Given the description of an element on the screen output the (x, y) to click on. 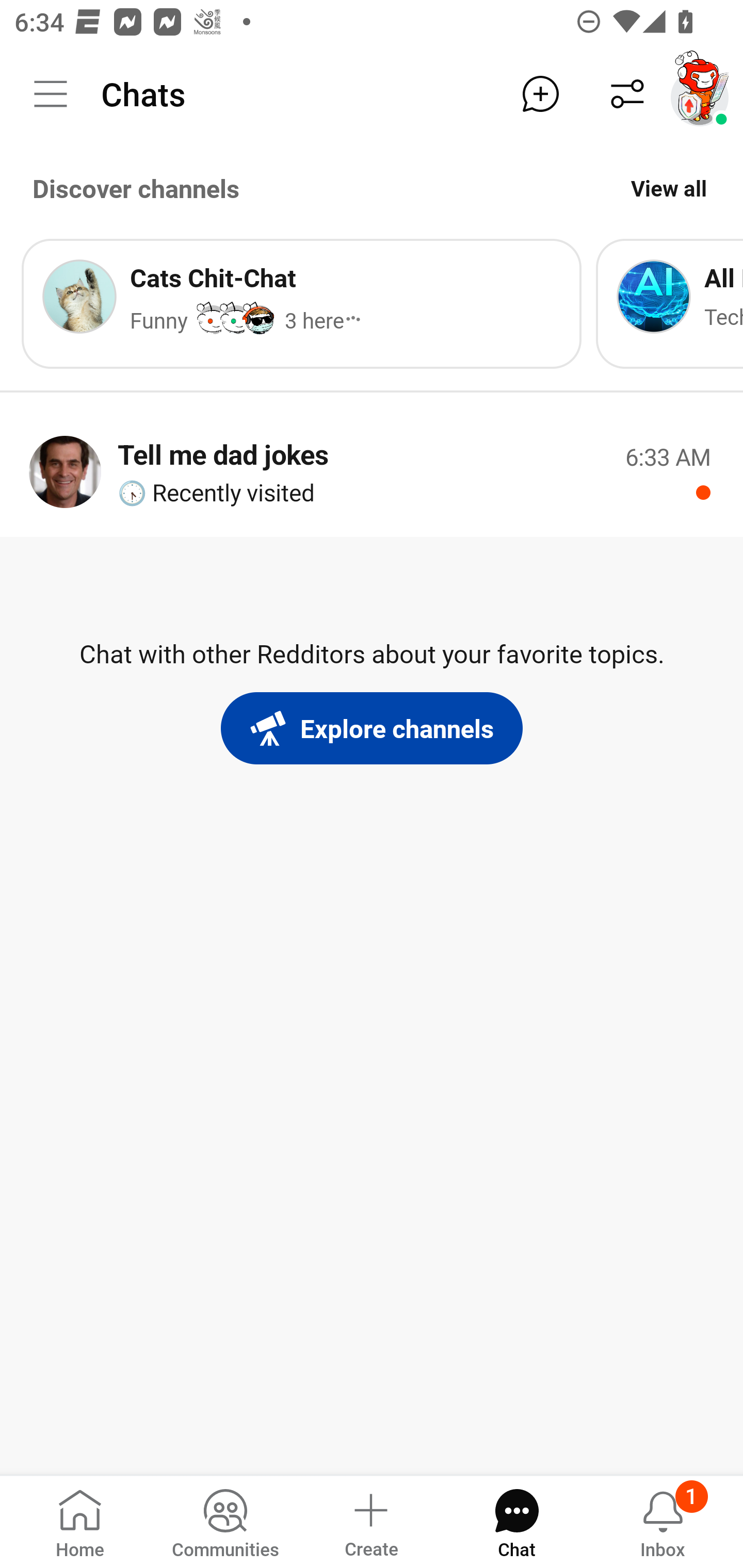
Community menu (50, 93)
New chat (540, 93)
Filter chats (626, 93)
TestAppium002 account (699, 93)
View all (668, 188)
Chat icon Cats Chit-Chat Funny 3 here (301, 303)
Tell me dad jokes 6:33 AM 🕟 Recently visited (371, 471)
Explore channels (371, 728)
Home (80, 1520)
Communities (225, 1520)
Create a post Create (370, 1520)
Chat (516, 1520)
Inbox, has 1 notification 1 Inbox (662, 1520)
